Given the description of an element on the screen output the (x, y) to click on. 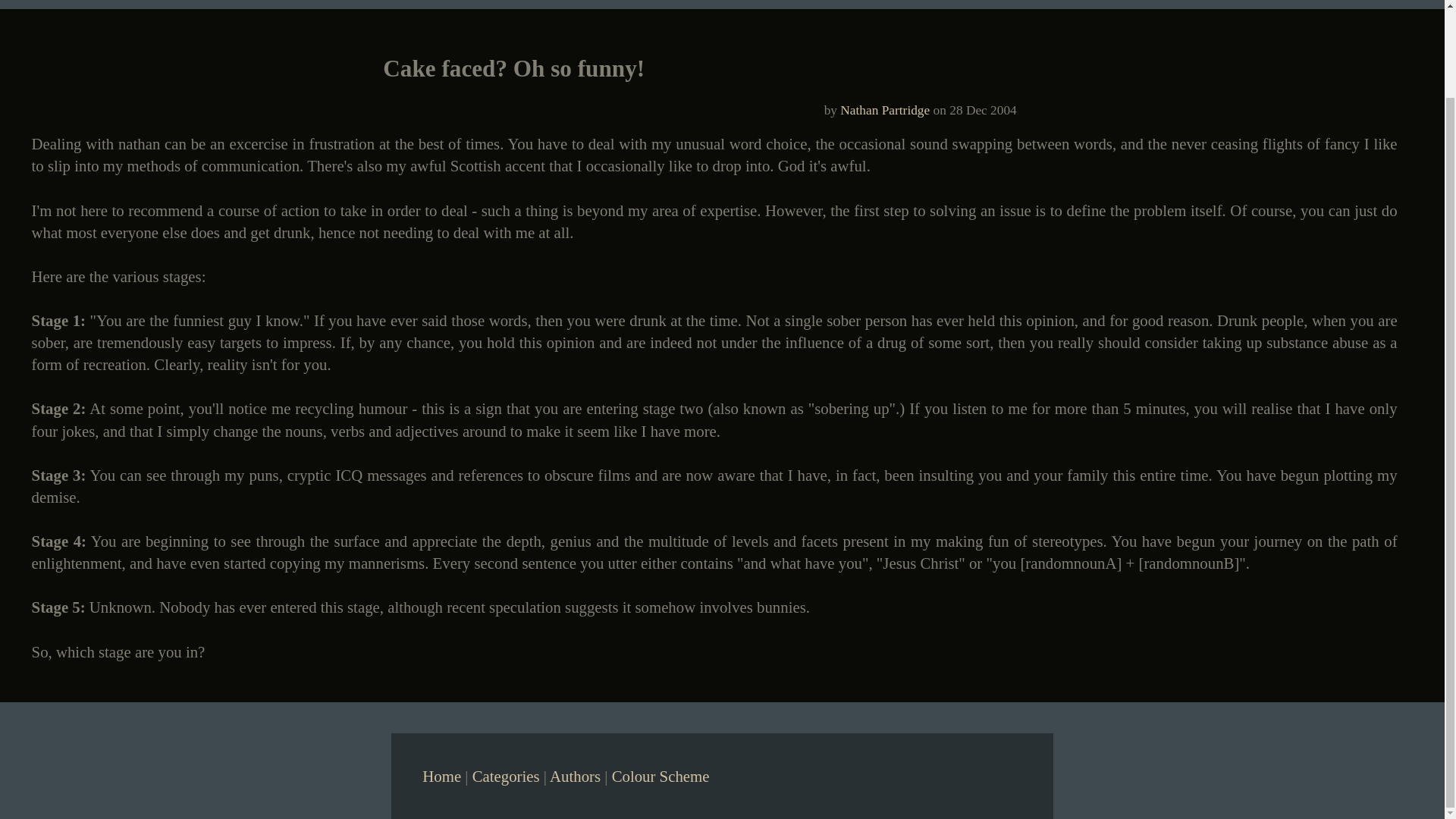
Nathan Partridge (885, 110)
Colour Scheme (660, 775)
Categories (505, 775)
Authors (574, 775)
Home (441, 775)
